Given the description of an element on the screen output the (x, y) to click on. 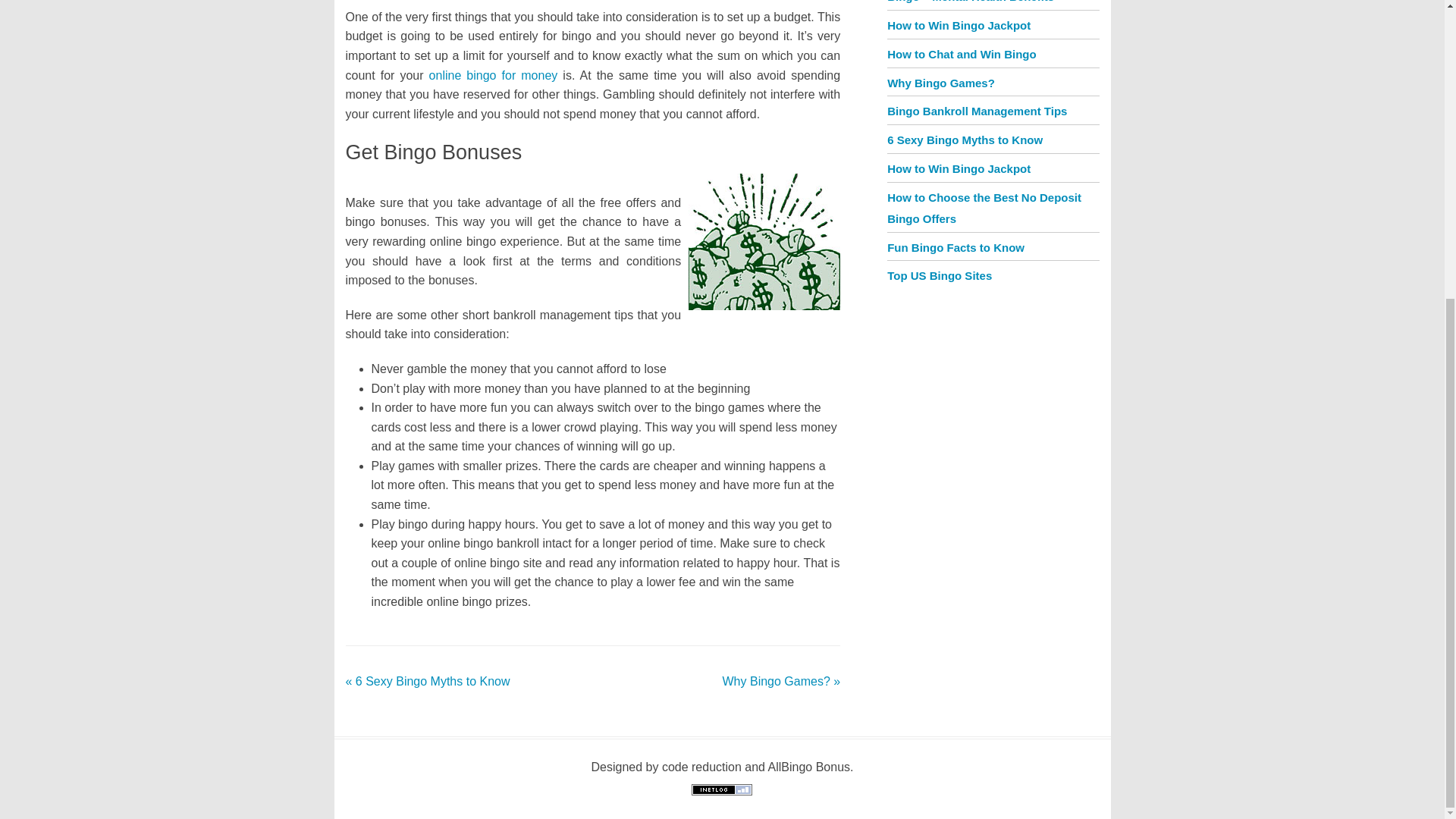
Fun Bingo Facts to Know (955, 246)
Permanent link to How to Chat and Win Bingo (961, 53)
How to Chat and Win Bingo (961, 53)
Permanent link to 6 Sexy Bingo Myths to Know (964, 139)
Permanent link to Bingo Bankroll Management Tips (976, 110)
Bingo Bankroll Management Tips (976, 110)
online bingo for money (493, 74)
Why Bingo Games? (940, 82)
How to Win Bingo Jackpot (958, 168)
How to Choose the Best No Deposit Bingo Offers (983, 207)
Permanent link to Why Bingo Games? (940, 82)
Permanent link to How to Win Bingo Jackpot (958, 24)
6 Sexy Bingo Myths to Know (964, 139)
How to Win Bingo Jackpot (958, 24)
Top US Bingo Sites (938, 275)
